Given the description of an element on the screen output the (x, y) to click on. 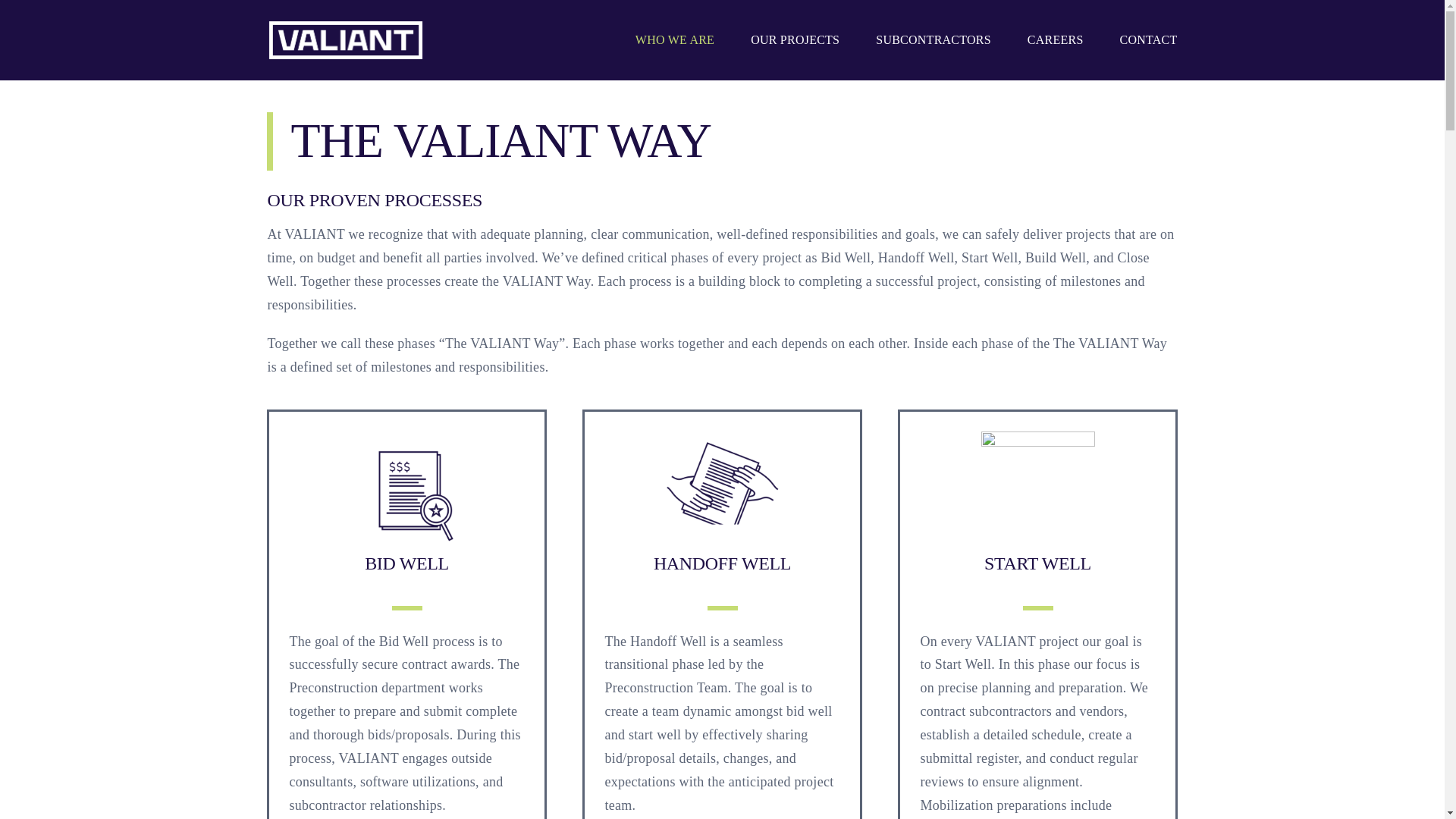
SUBCONTRACTORS (933, 40)
OUR PROJECTS (795, 40)
WHO WE ARE (674, 40)
